Given the description of an element on the screen output the (x, y) to click on. 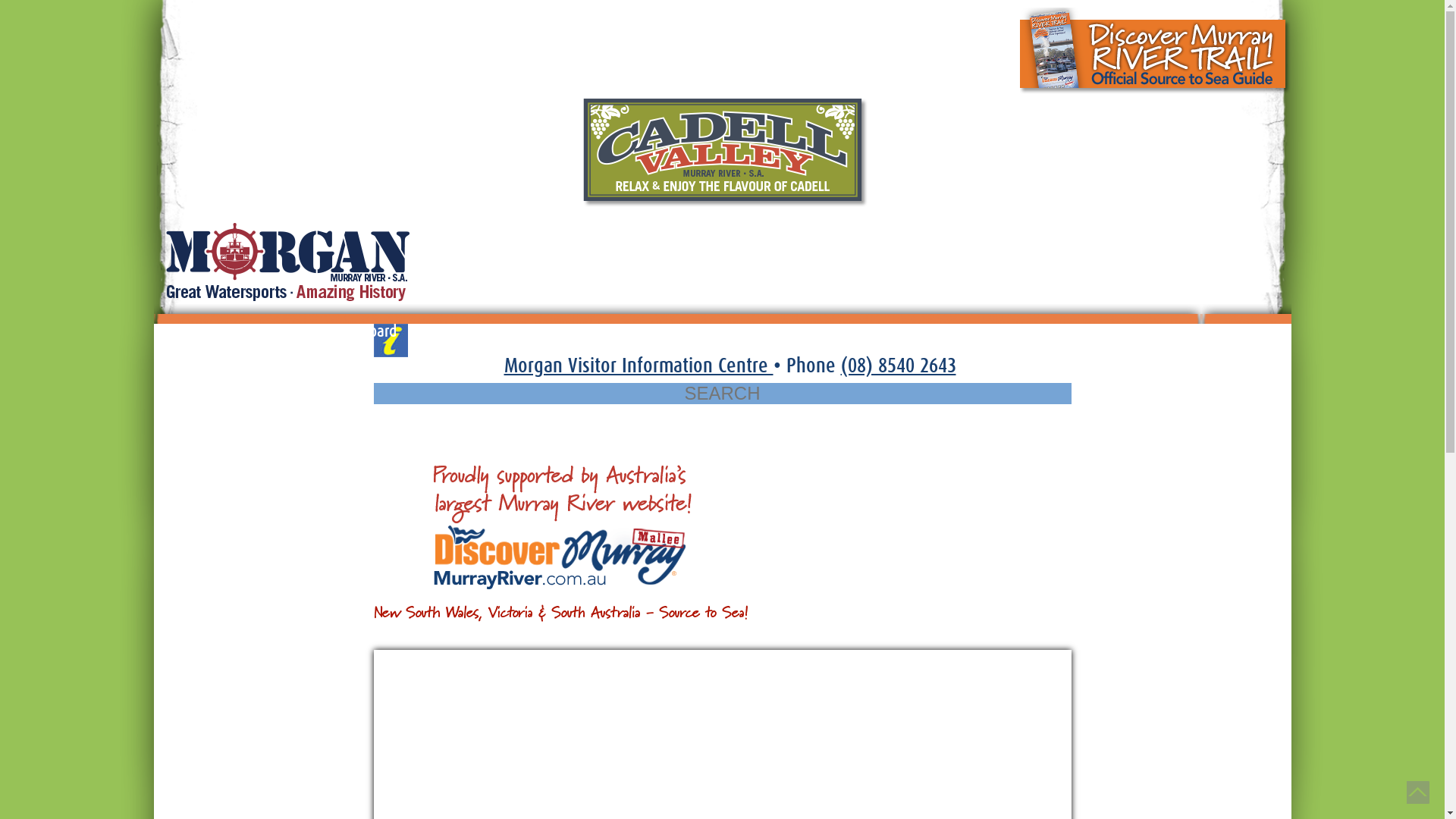
Things to do Element type: text (750, 331)
Contact Cadell Element type: text (209, 331)
Home Element type: text (1078, 331)
Cadell Heritage Centre Element type: text (491, 331)
(08) 8540 2643 Element type: text (897, 365)
Morgan Visitor Information Centre Element type: text (637, 365)
Cadell History Element type: text (990, 331)
Foodies Heaven Element type: text (636, 331)
Cadell Town Map Element type: text (868, 331)
Cadell Noticeboard Element type: text (337, 331)
